Given the description of an element on the screen output the (x, y) to click on. 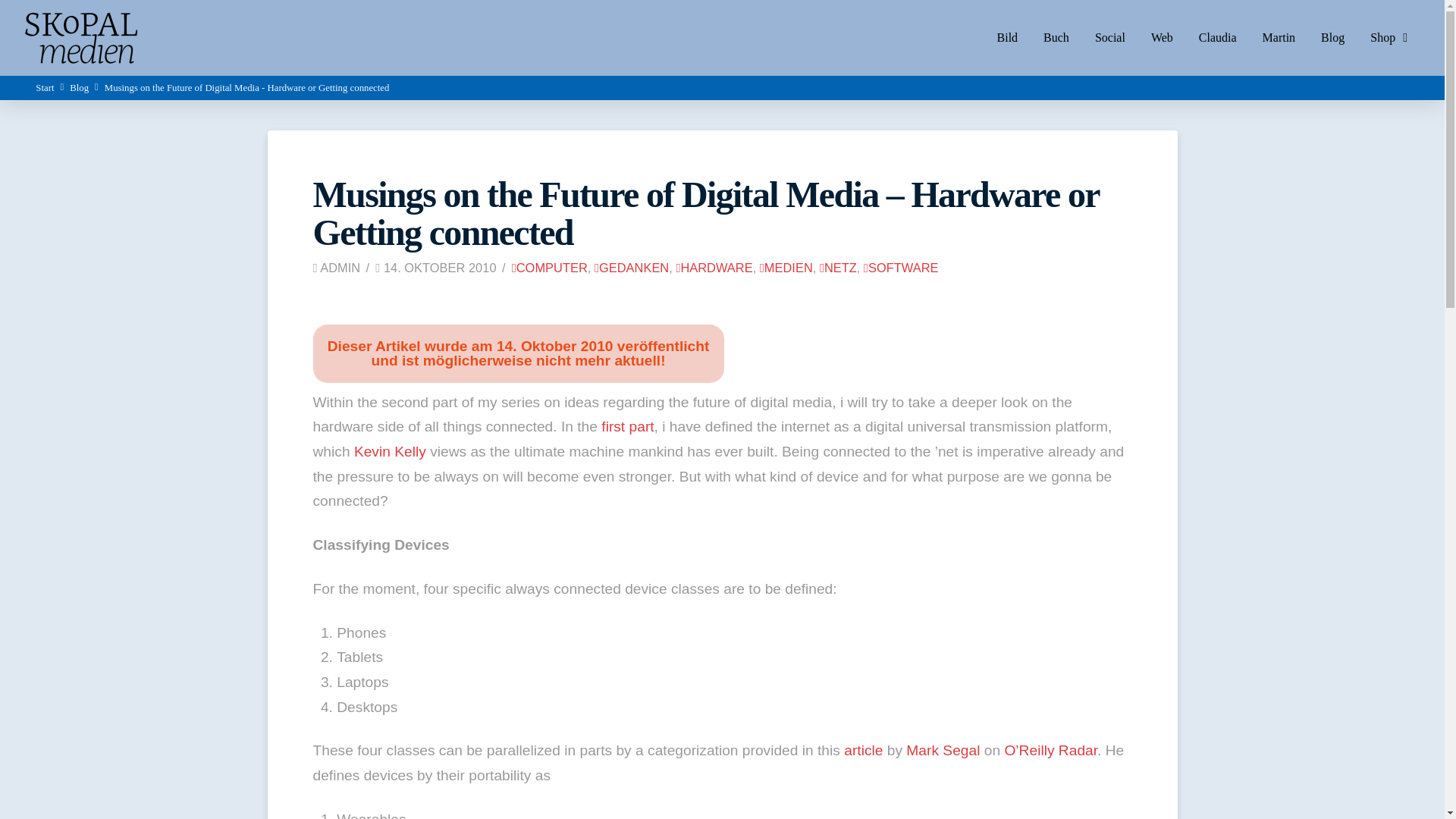
Web (1162, 38)
Musings on the Future of Digital Media - The Internet (627, 426)
You Are Here (247, 88)
GEDANKEN (631, 267)
Mark Segal (942, 750)
article (863, 750)
NETZ (838, 267)
Claudia (1217, 38)
HARDWARE (713, 267)
Martin (1278, 38)
Start (43, 88)
Shop (1388, 38)
Kevin Kelly (389, 451)
COMPUTER (550, 267)
Social (1109, 38)
